Given the description of an element on the screen output the (x, y) to click on. 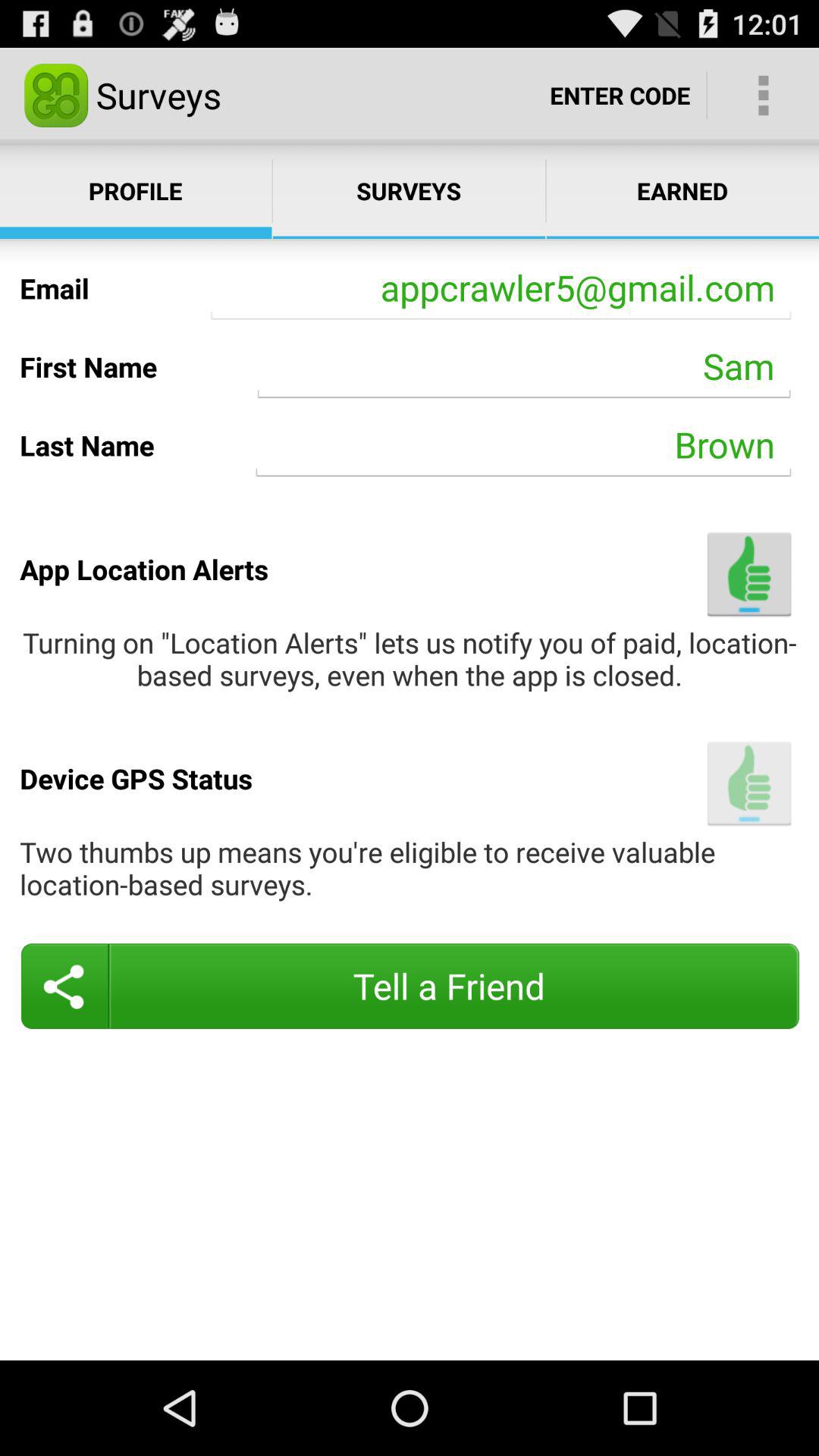
launch enter code (620, 95)
